Given the description of an element on the screen output the (x, y) to click on. 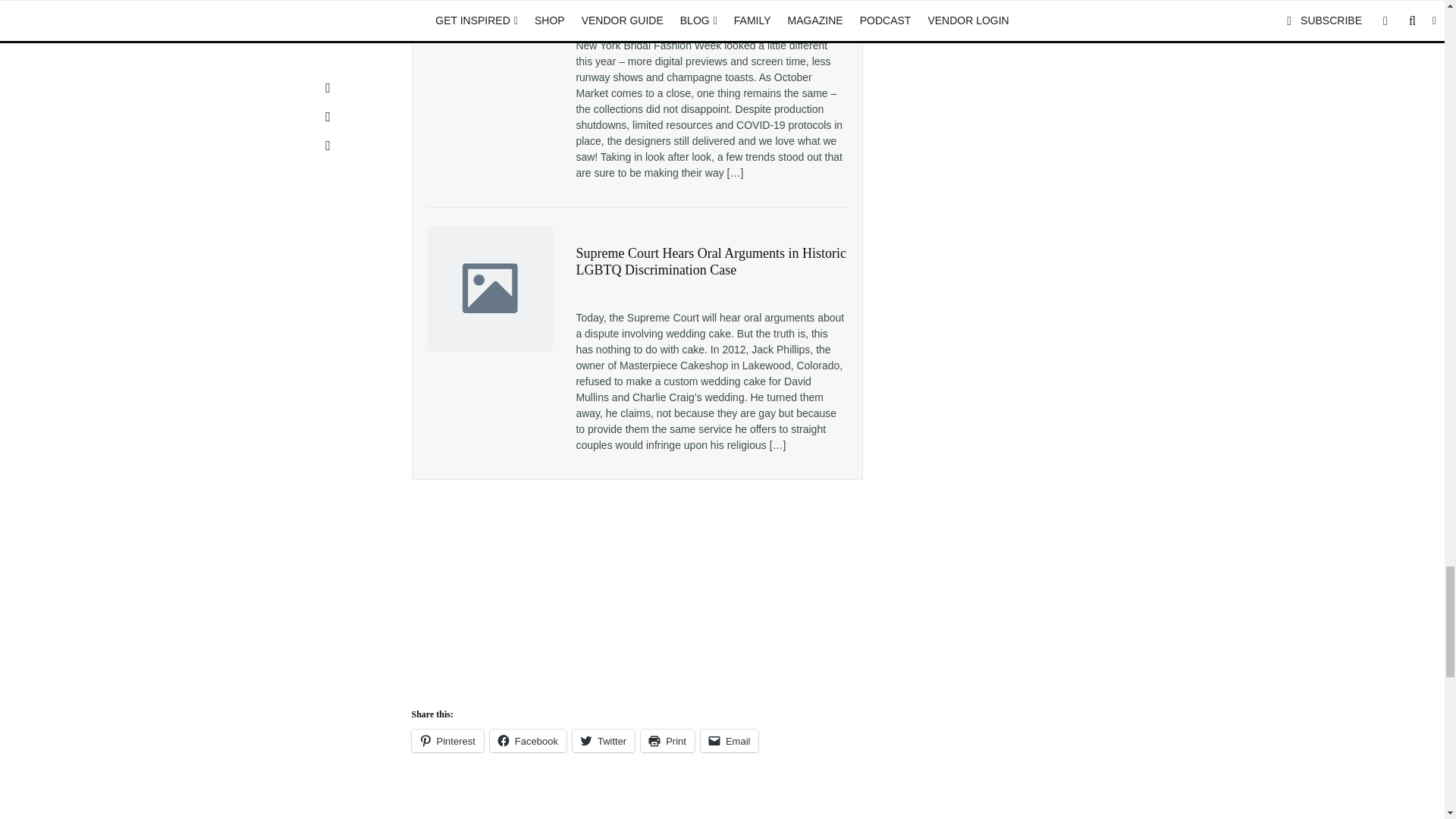
Click to share on Facebook (527, 740)
Click to email a link to a friend (729, 740)
Click to print (667, 740)
Click to share on Twitter (603, 740)
Click to share on Pinterest (446, 740)
